Given the description of an element on the screen output the (x, y) to click on. 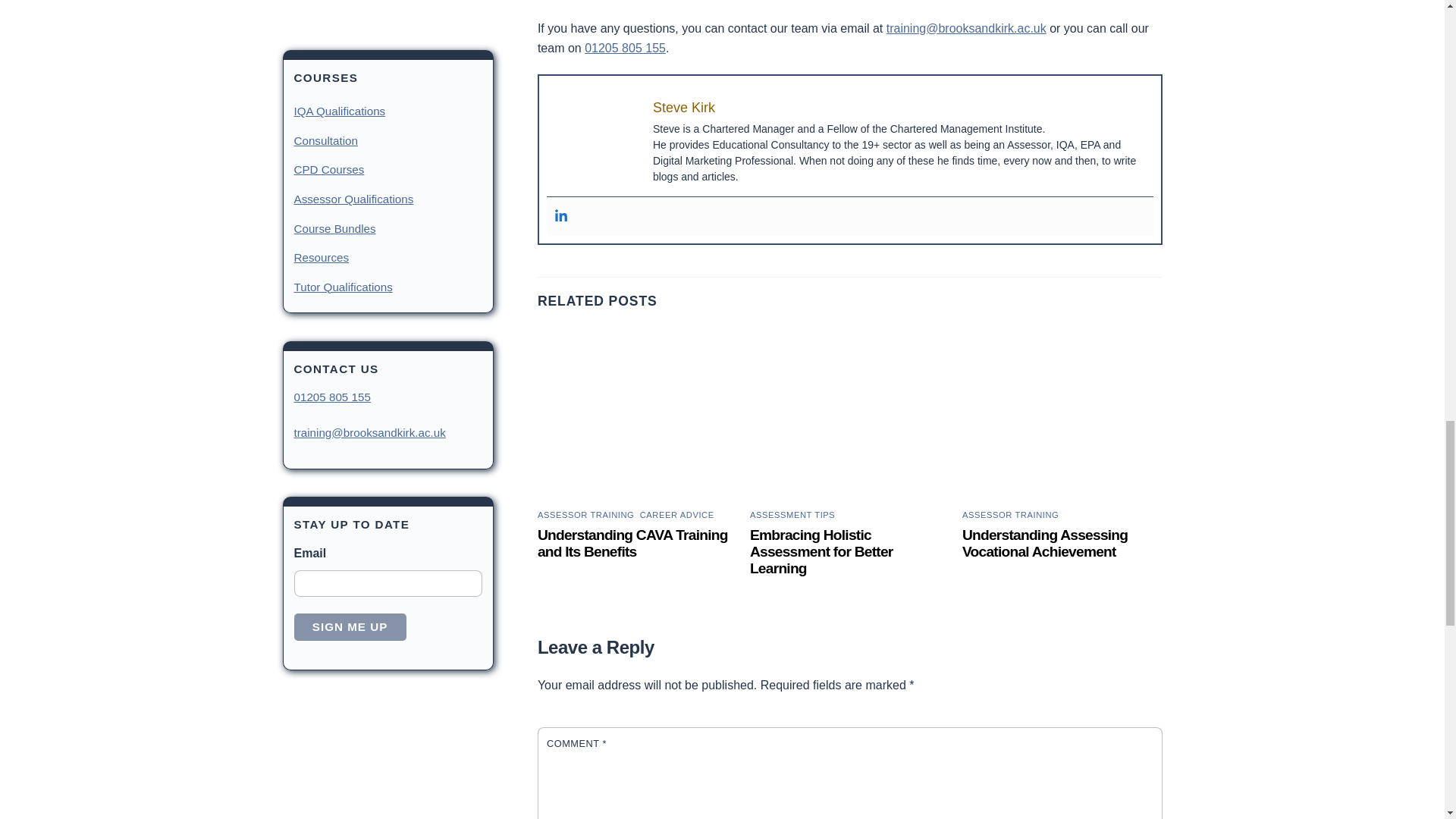
pexels-peter-olexa-2214257-4012966 (637, 415)
assessor with learners (849, 415)
mimi-thian-ZKBzlifgkgw-unsplash (1061, 415)
